Given the description of an element on the screen output the (x, y) to click on. 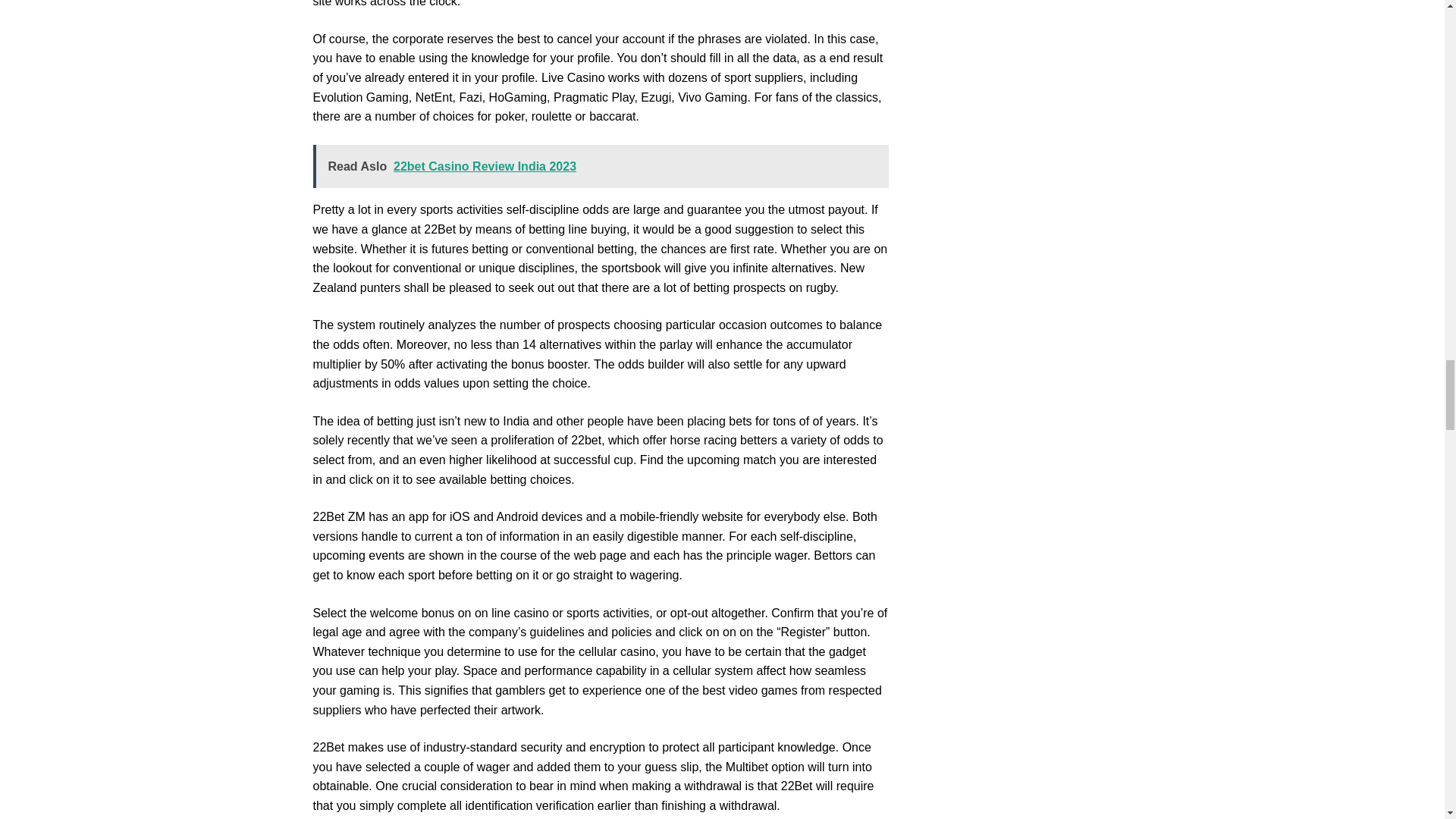
Read Aslo  22bet Casino Review India 2023 (600, 166)
